Given the description of an element on the screen output the (x, y) to click on. 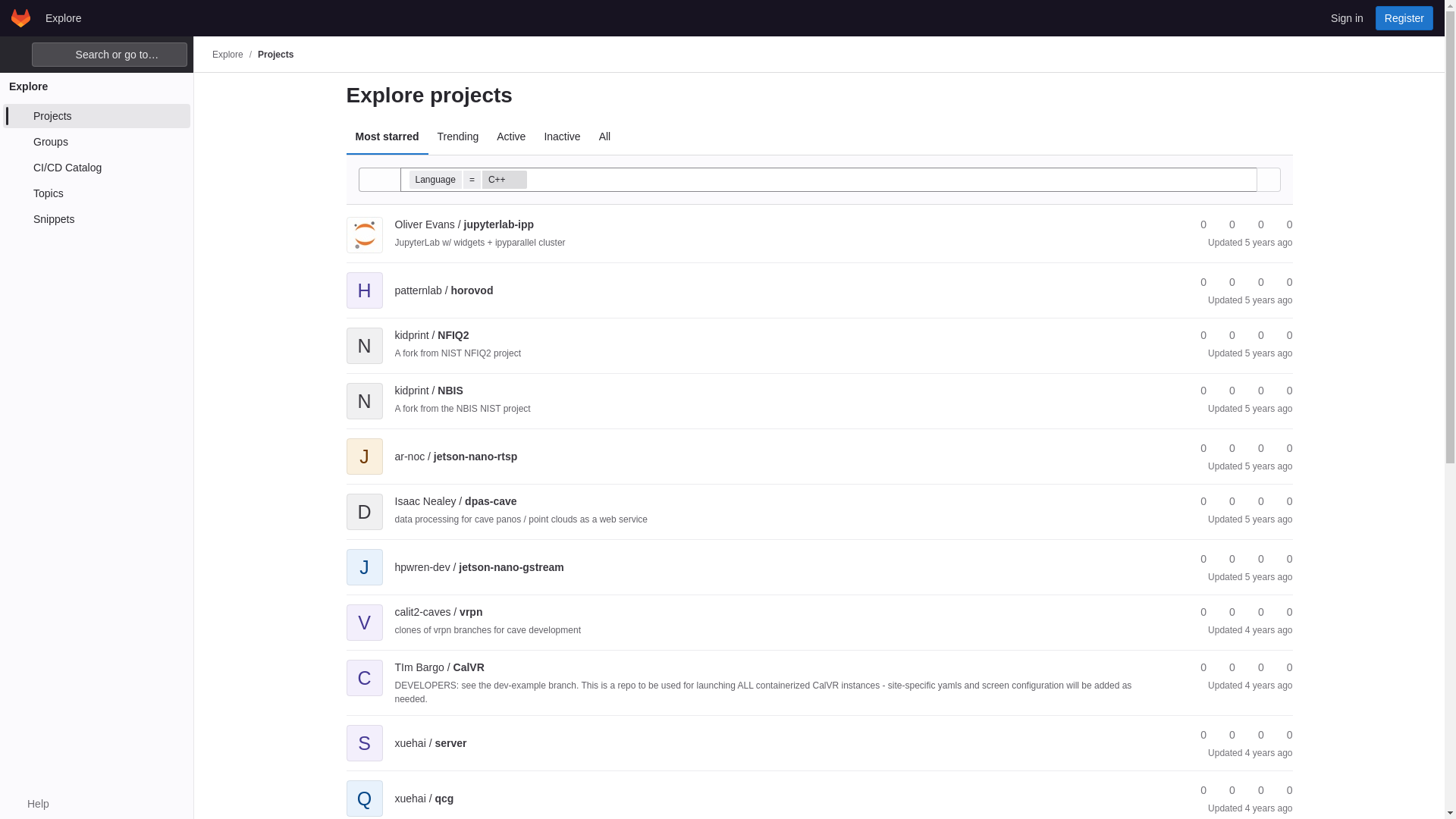
Issues (1282, 224)
Projects (96, 115)
Groups (96, 141)
Forks (1224, 224)
Snippets (96, 218)
Homepage (20, 17)
Help (30, 803)
Merge requests (1253, 224)
Trending (457, 135)
Projects (275, 54)
